Given the description of an element on the screen output the (x, y) to click on. 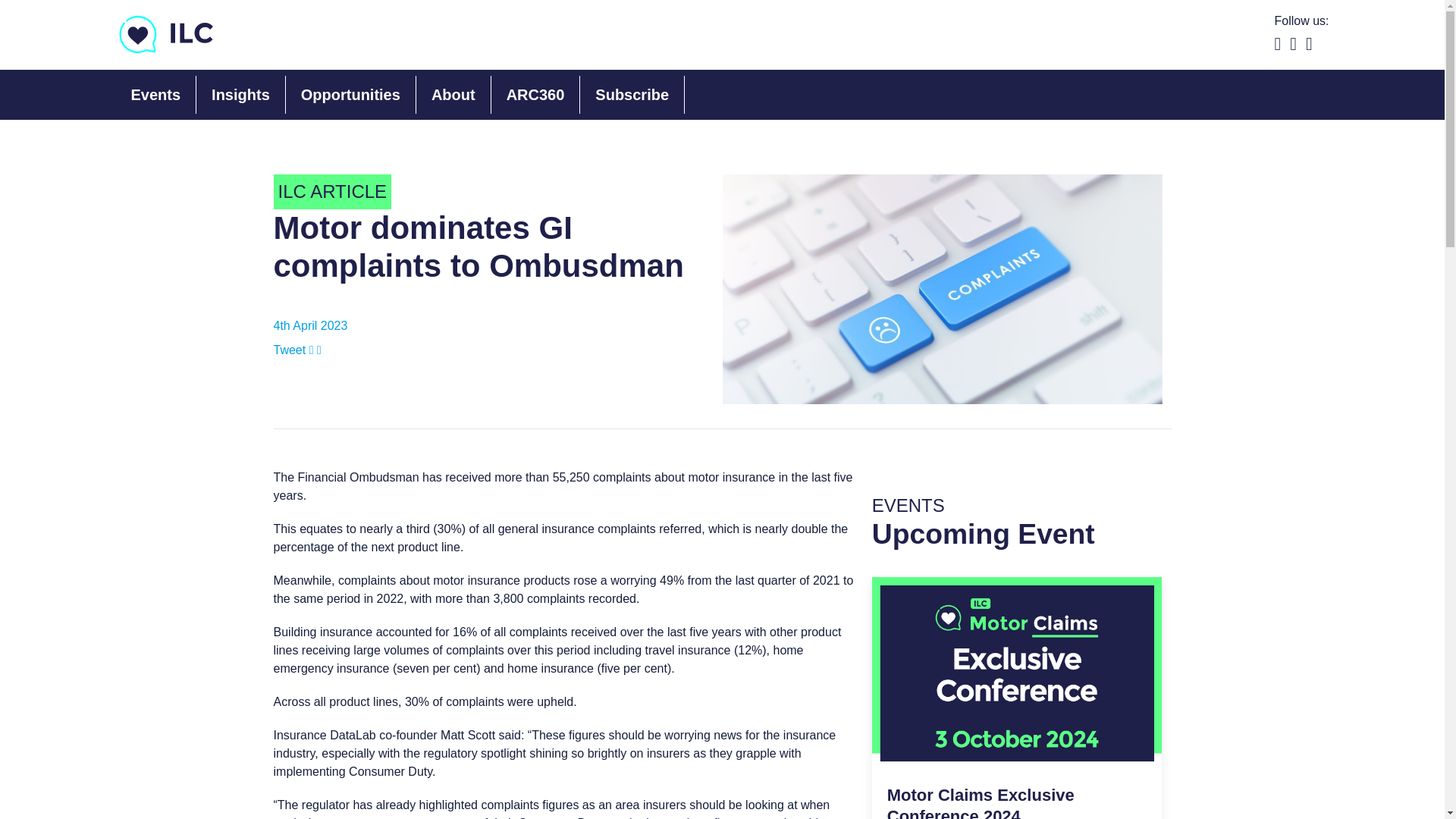
Tweet (1016, 698)
ARC360 (290, 349)
About (535, 94)
Opportunities (453, 94)
Subscribe (349, 94)
Motor Claims Exclusive Conference 2024 (631, 94)
Events (980, 802)
Insights (155, 94)
